Given the description of an element on the screen output the (x, y) to click on. 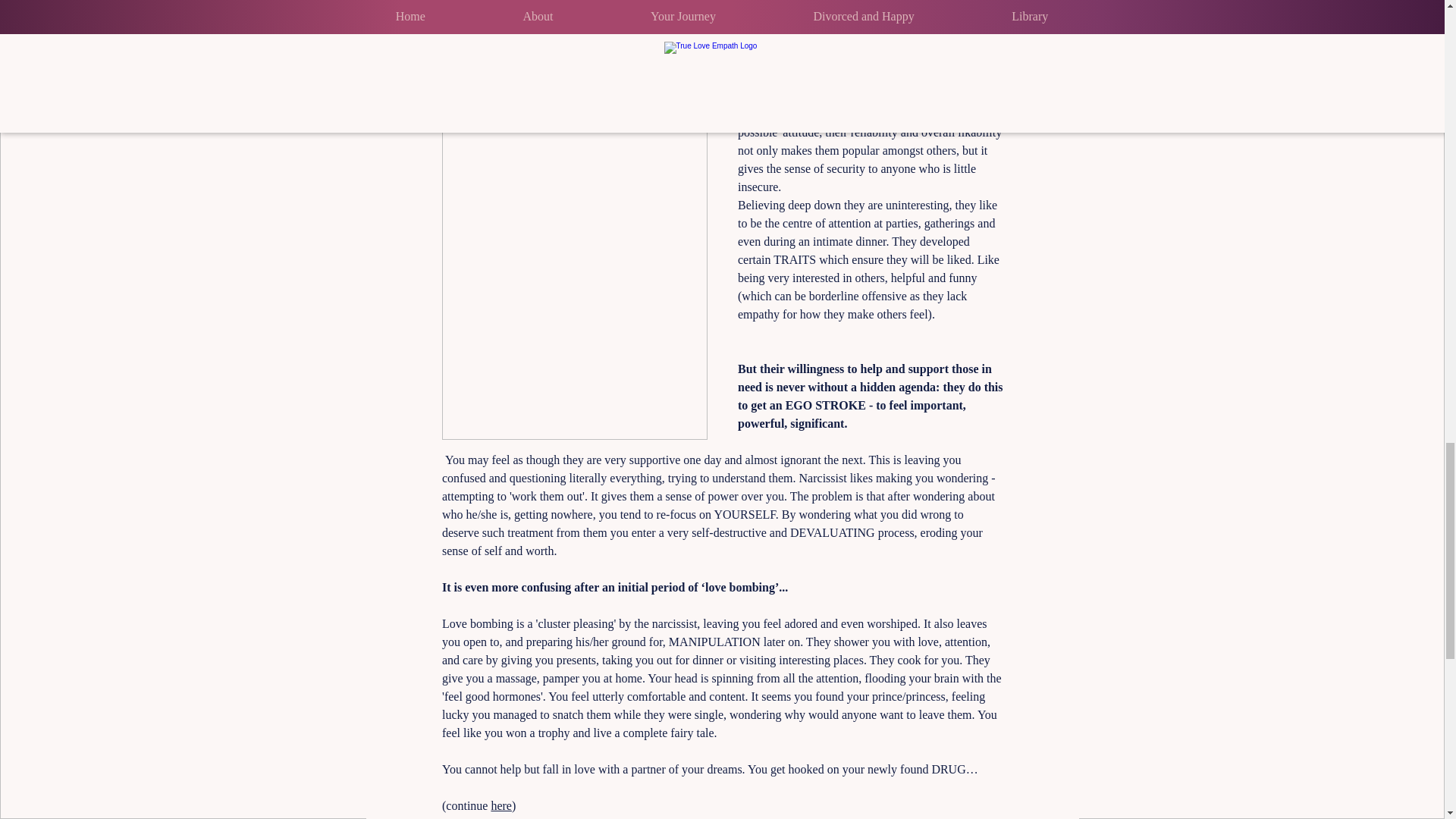
hooked on your newly found DRUG (876, 768)
continue  (467, 805)
here (501, 805)
